Given the description of an element on the screen output the (x, y) to click on. 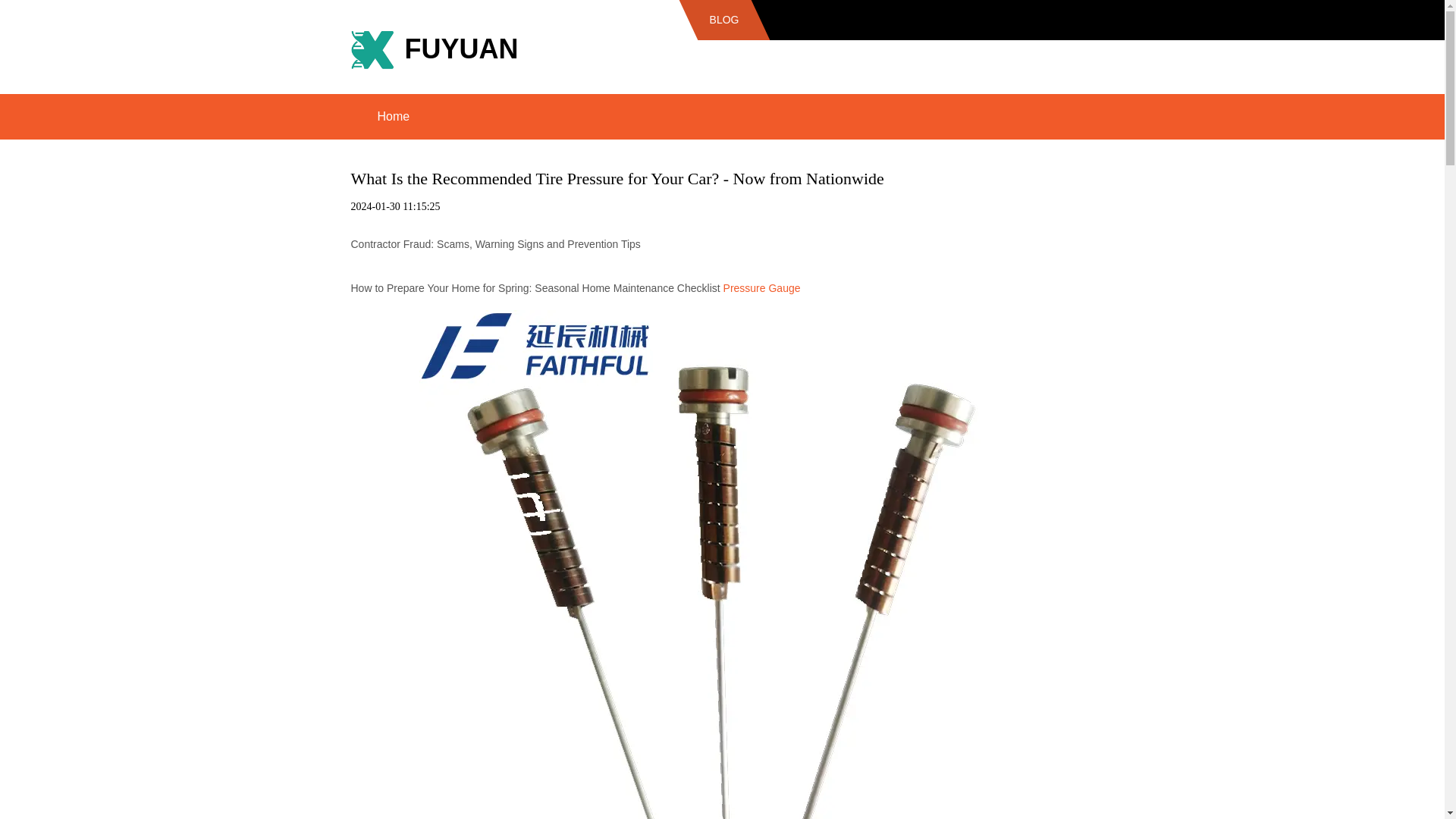
Home (392, 116)
Pressure Gauge (761, 287)
